Given the description of an element on the screen output the (x, y) to click on. 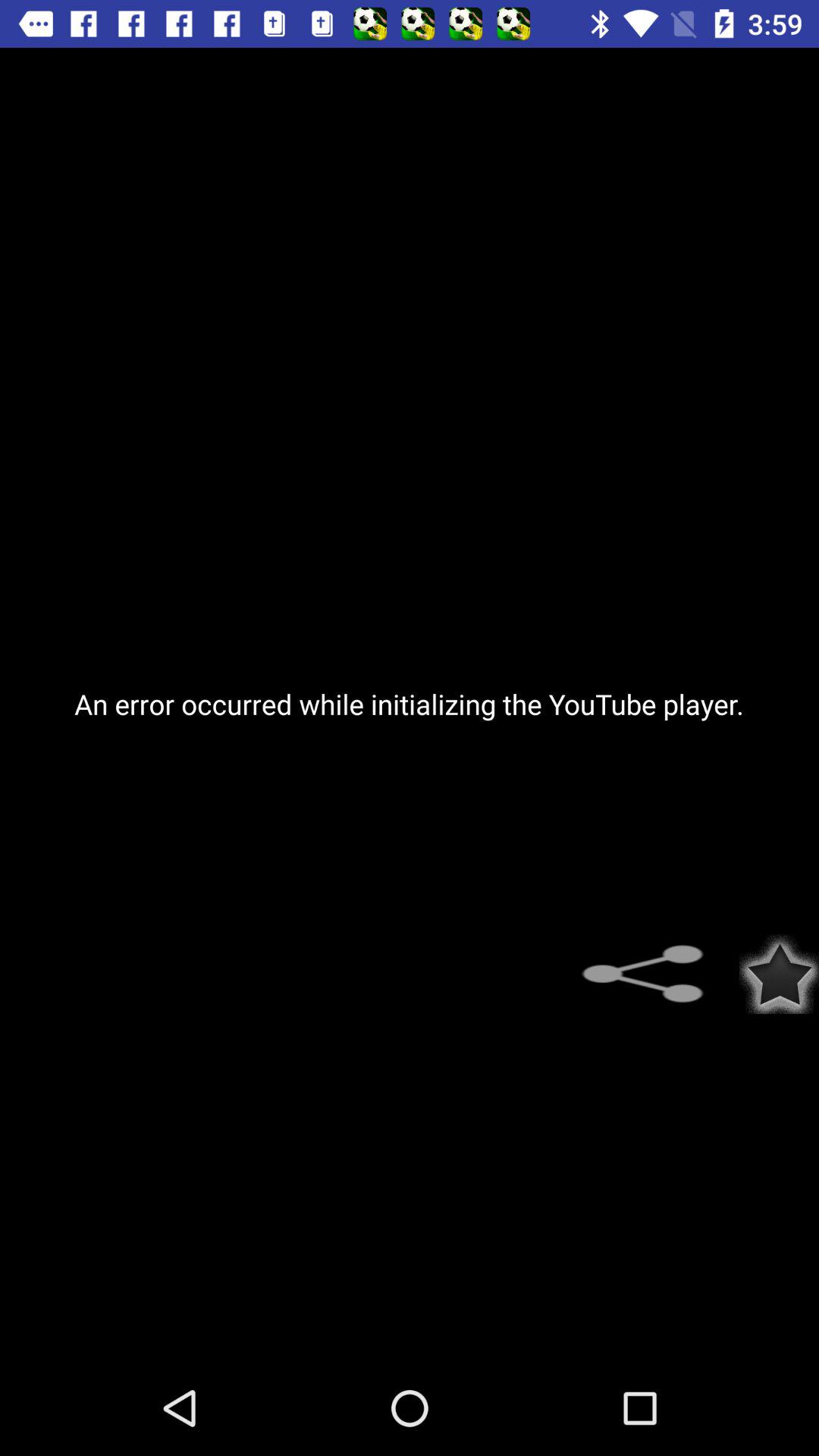
share (651, 974)
